Given the description of an element on the screen output the (x, y) to click on. 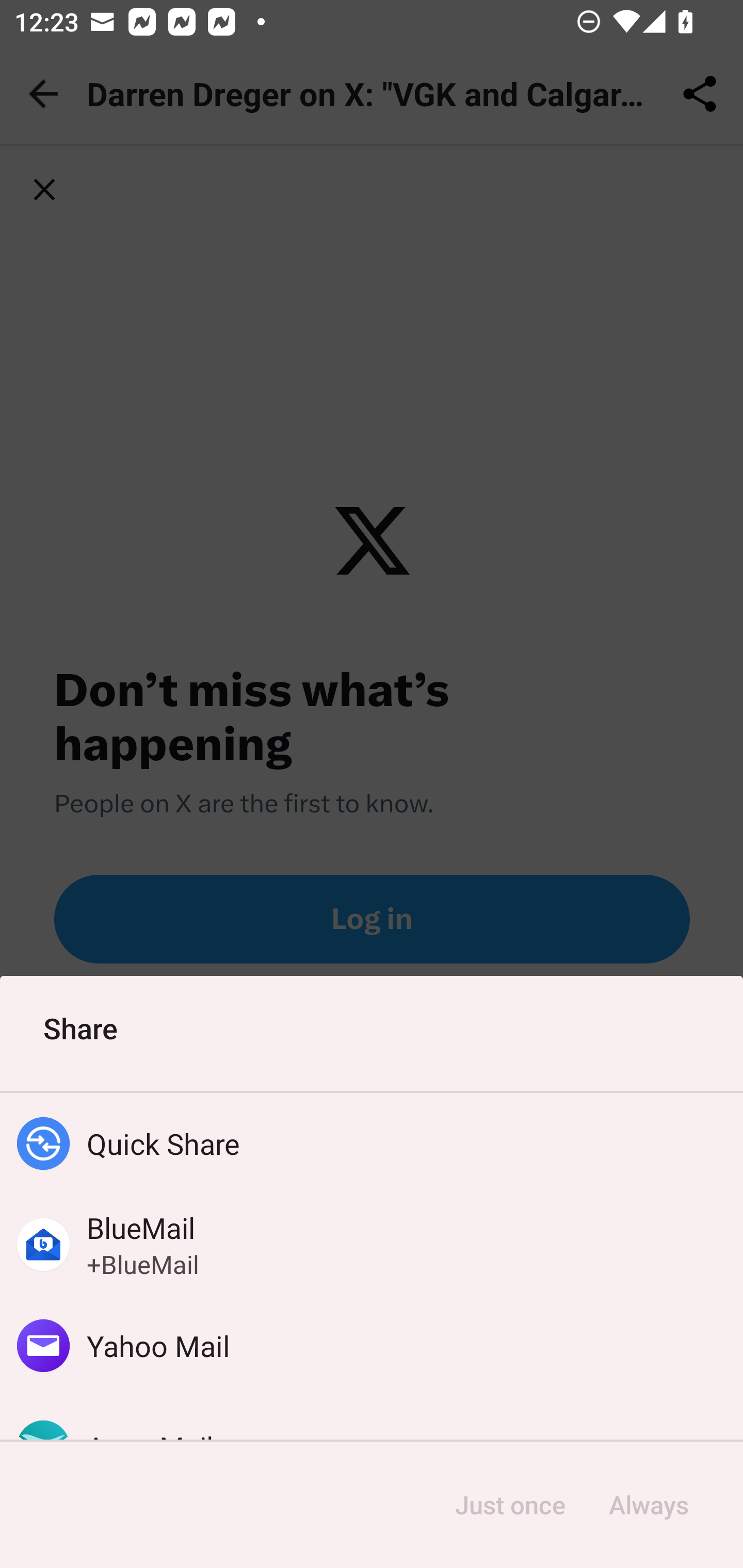
Quick Share (371, 1143)
BlueMail +BlueMail (371, 1244)
Yahoo Mail (371, 1345)
Just once (509, 1504)
Always (648, 1504)
